Given the description of an element on the screen output the (x, y) to click on. 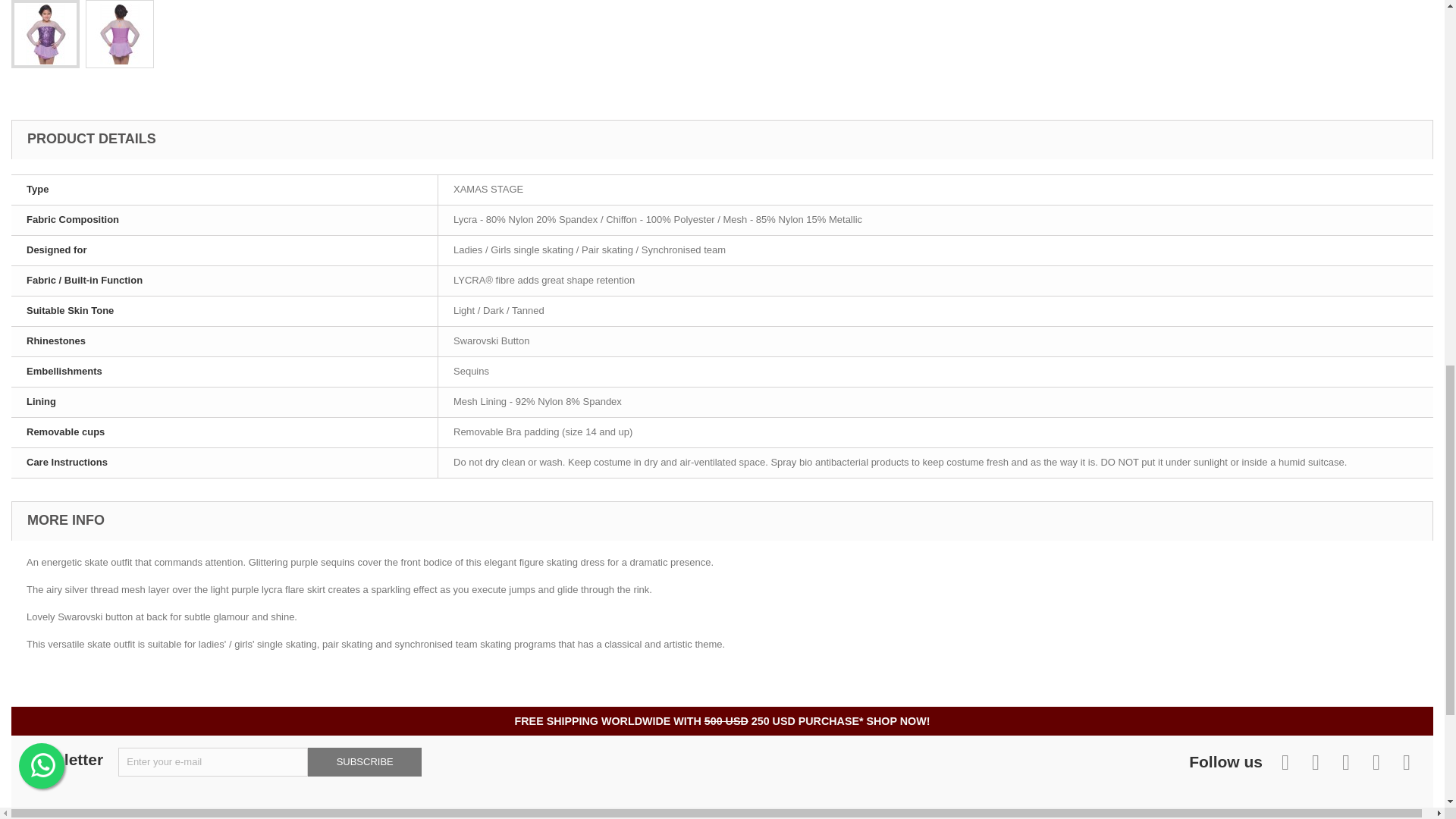
Trendy Pro Jordyn Figure Skating Dress (118, 33)
Trendy Pro Jordyn Figure Skating Dress (44, 33)
Trendy Pro Jordyn Figure Skating Dress (119, 34)
Trendy Pro Jordyn Figure Skating Dress (45, 34)
